Given the description of an element on the screen output the (x, y) to click on. 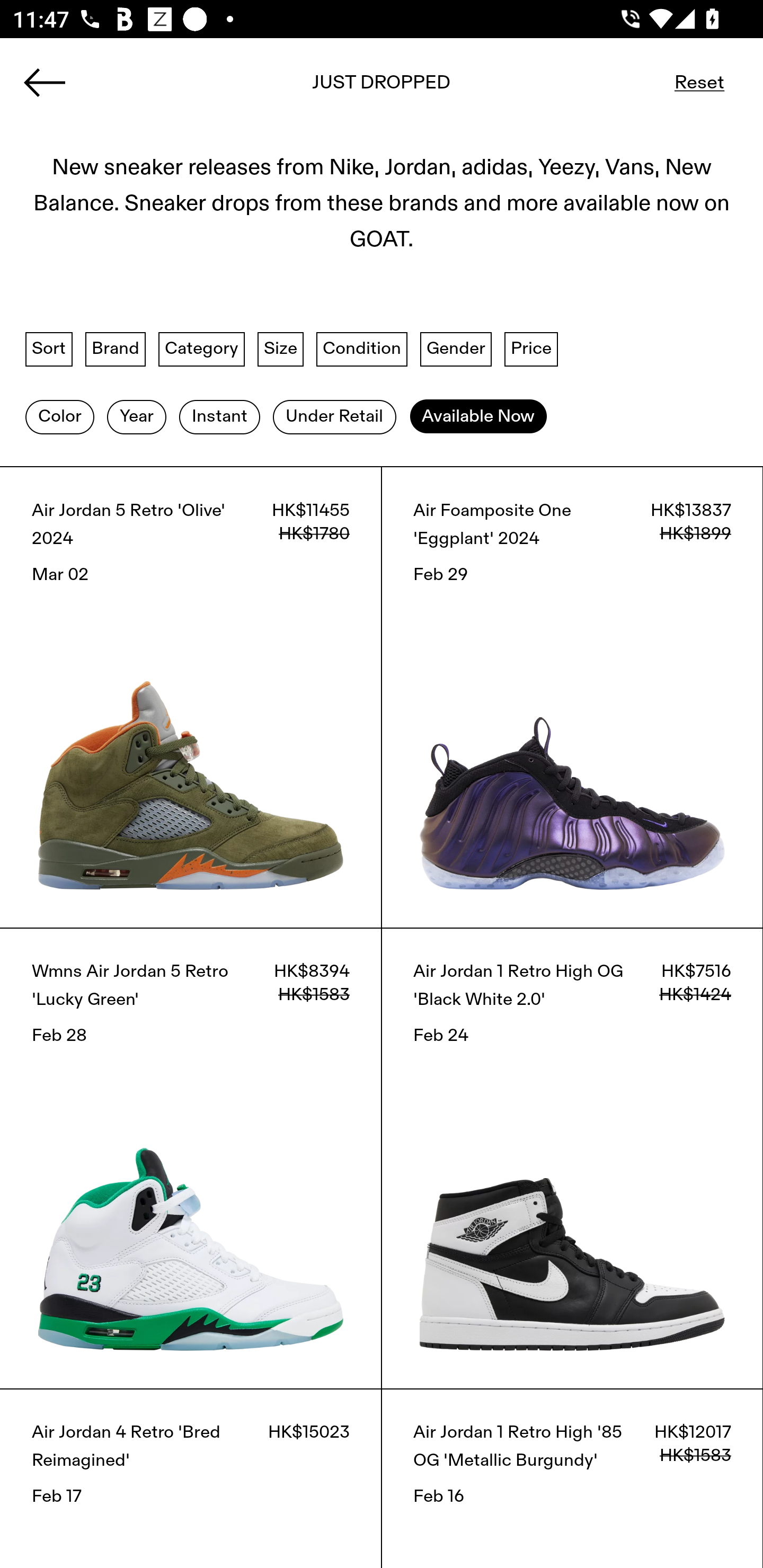
Want (710, 82)
soccer shoes (381, 88)
Sort (48, 348)
Brand (115, 348)
Category (201, 348)
Size (280, 348)
Condition (361, 348)
Gender (455, 348)
Price (530, 348)
Color (59, 416)
Year (136, 416)
Instant (219, 416)
Under Retail (334, 416)
Available Now (477, 416)
